Given the description of an element on the screen output the (x, y) to click on. 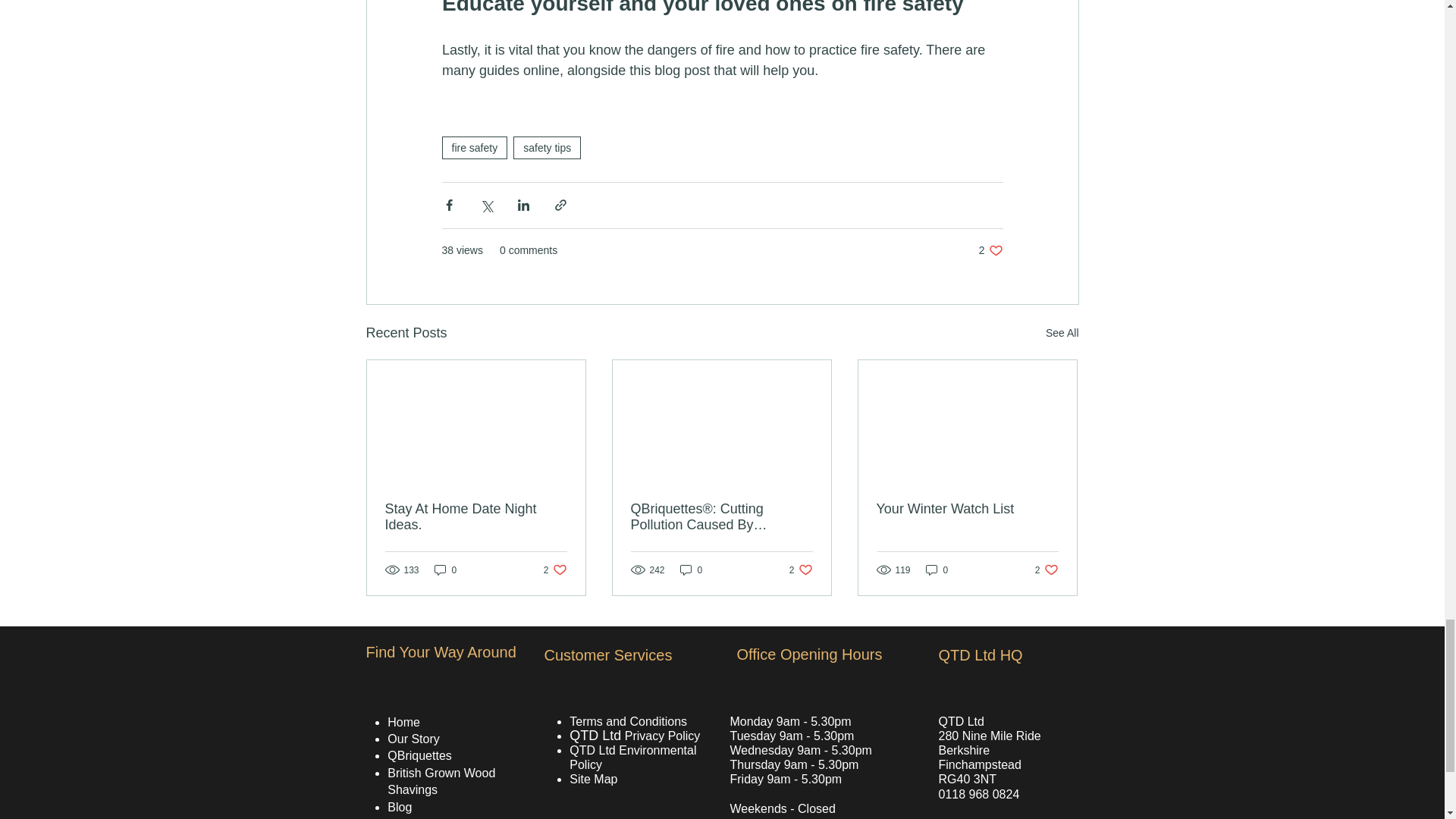
Contact Us (416, 818)
Blog  (400, 807)
Stay At Home Date Night Ideas. (1046, 569)
QBriquettes (476, 517)
Terms and Conditions  (419, 755)
See All (629, 721)
Your Winter Watch List (1061, 332)
Our Story (967, 508)
QTD Ltd Privacy Policy (413, 738)
